Given the description of an element on the screen output the (x, y) to click on. 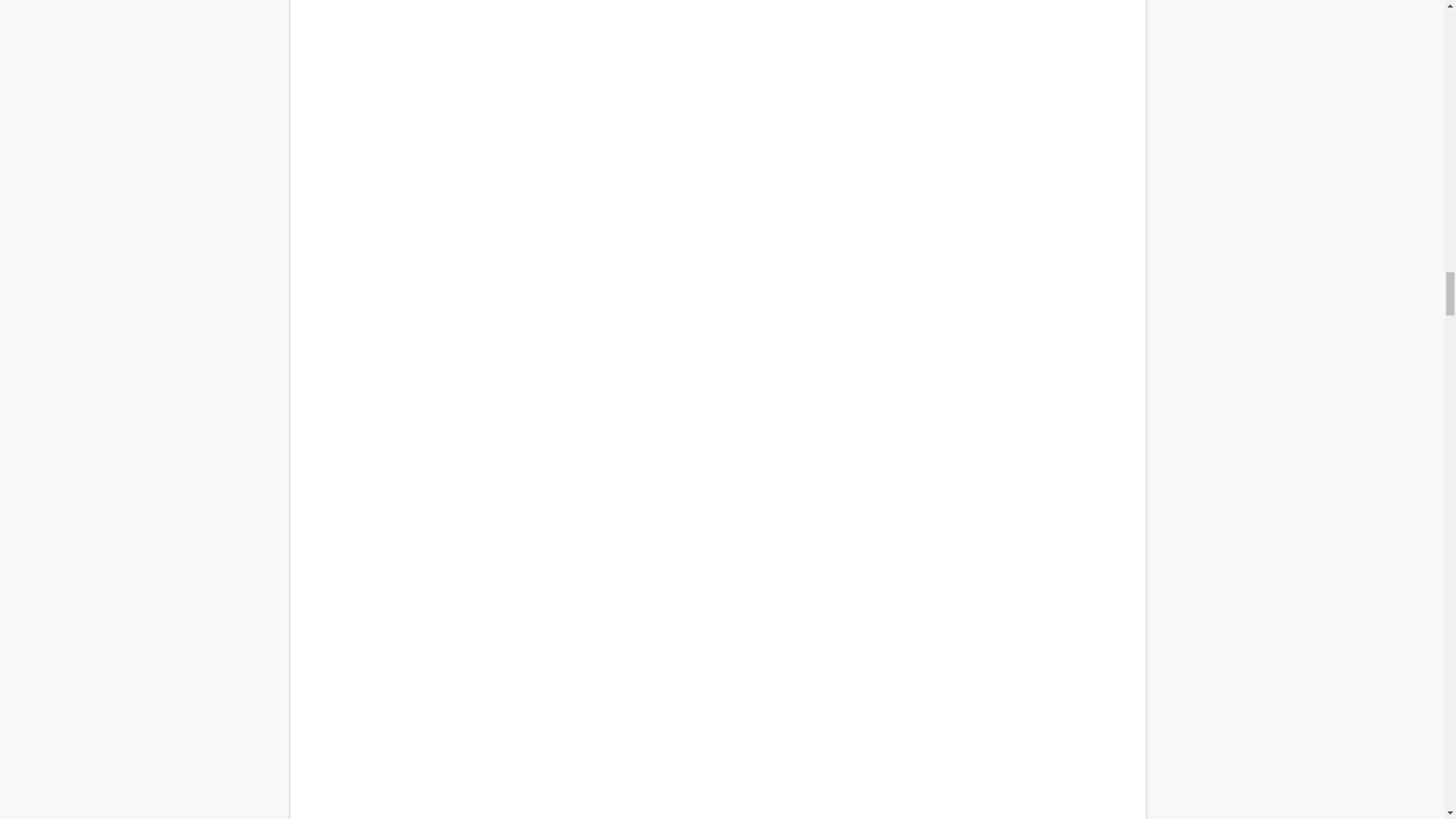
form of verbs (717, 193)
